Given the description of an element on the screen output the (x, y) to click on. 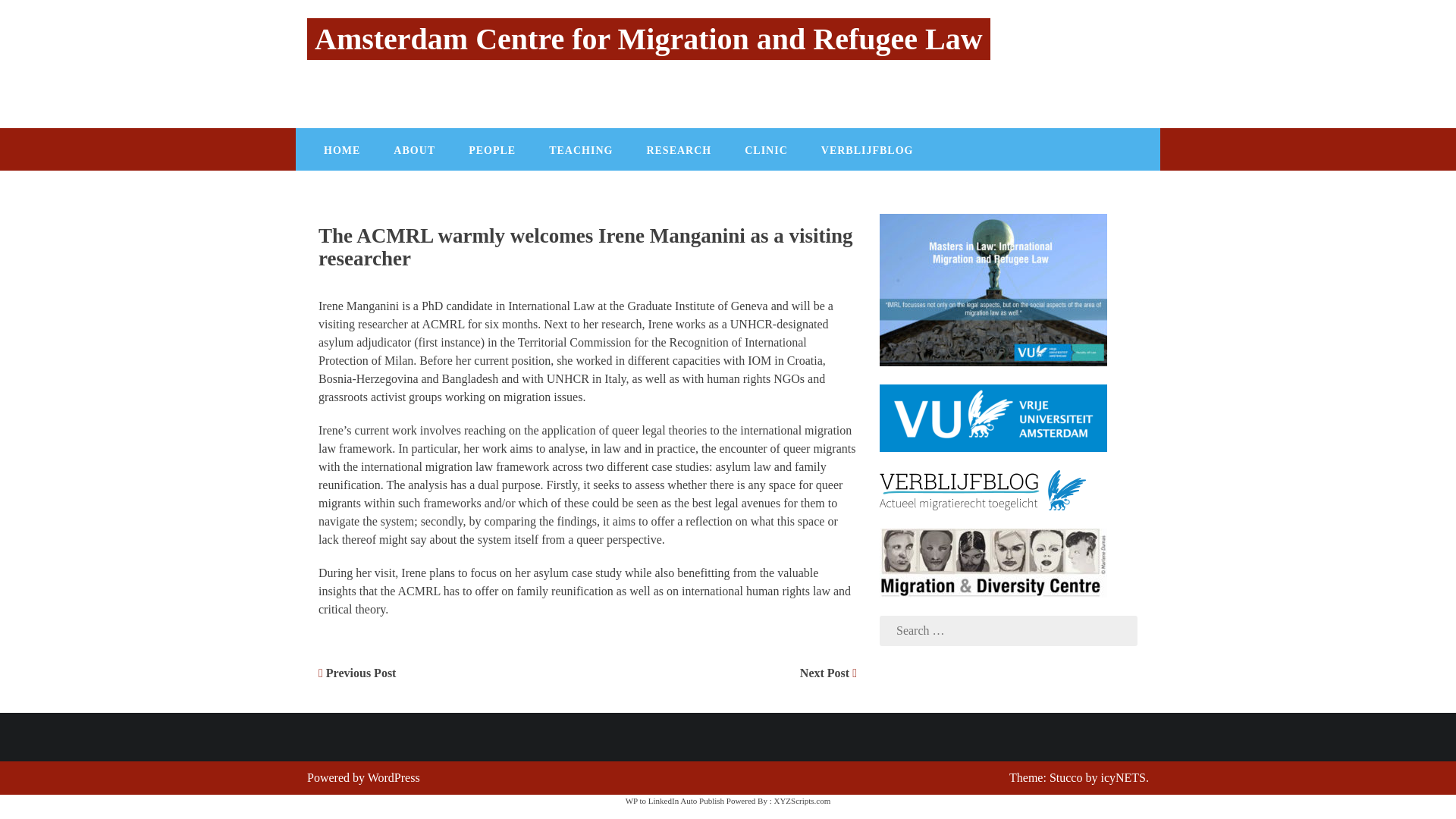
Next Post (828, 672)
RESEARCH (678, 148)
WP to LinkedIn Auto Publish (674, 800)
Amsterdam Centre for Migration and Refugee Law (648, 38)
VERBLIJFBLOG (867, 148)
HOME (342, 148)
ABOUT (414, 148)
CLINIC (766, 148)
Previous Post (357, 672)
TEACHING (580, 148)
